Given the description of an element on the screen output the (x, y) to click on. 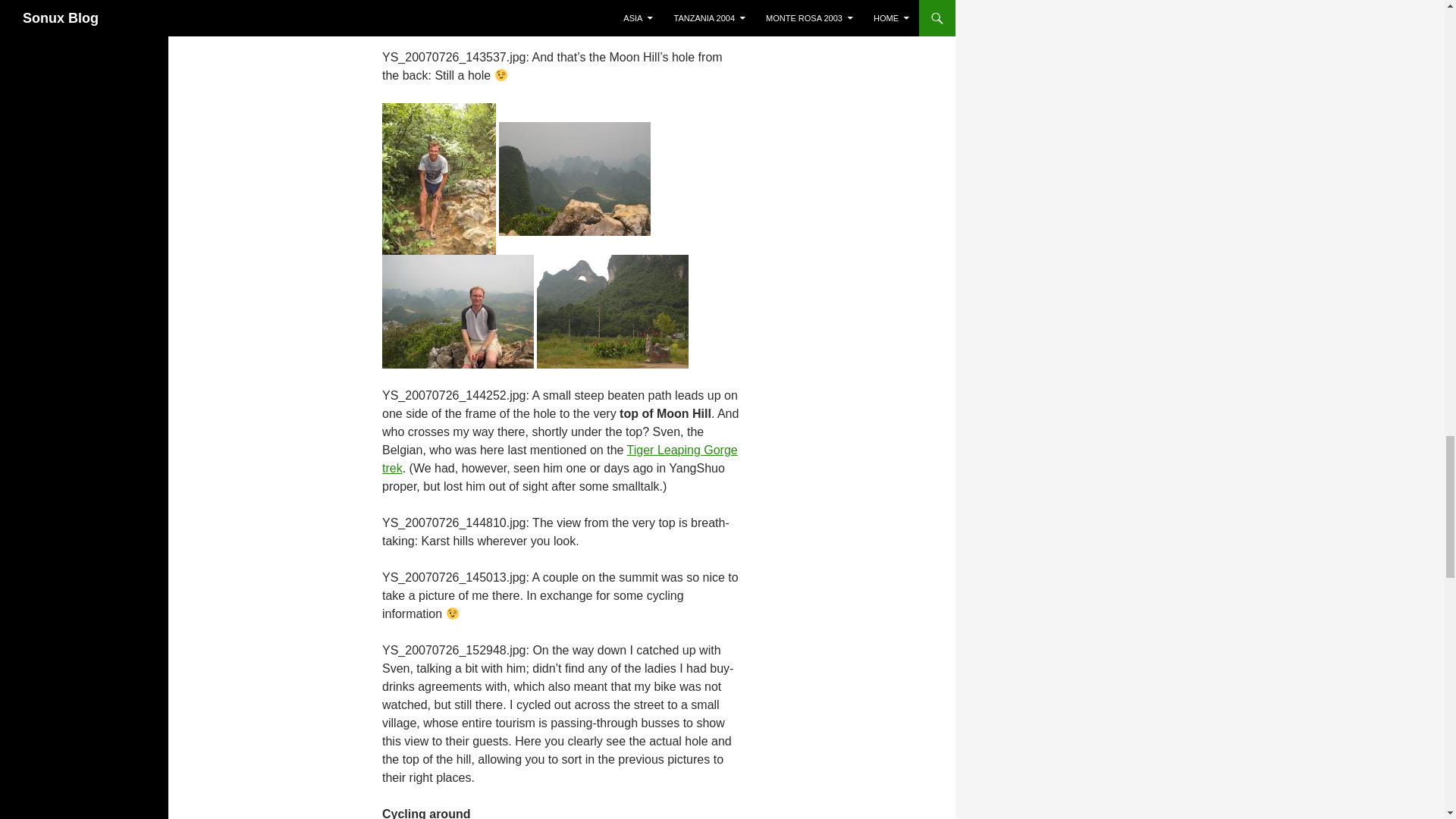
Tiger Leaping Gorge trek (559, 459)
